Given the description of an element on the screen output the (x, y) to click on. 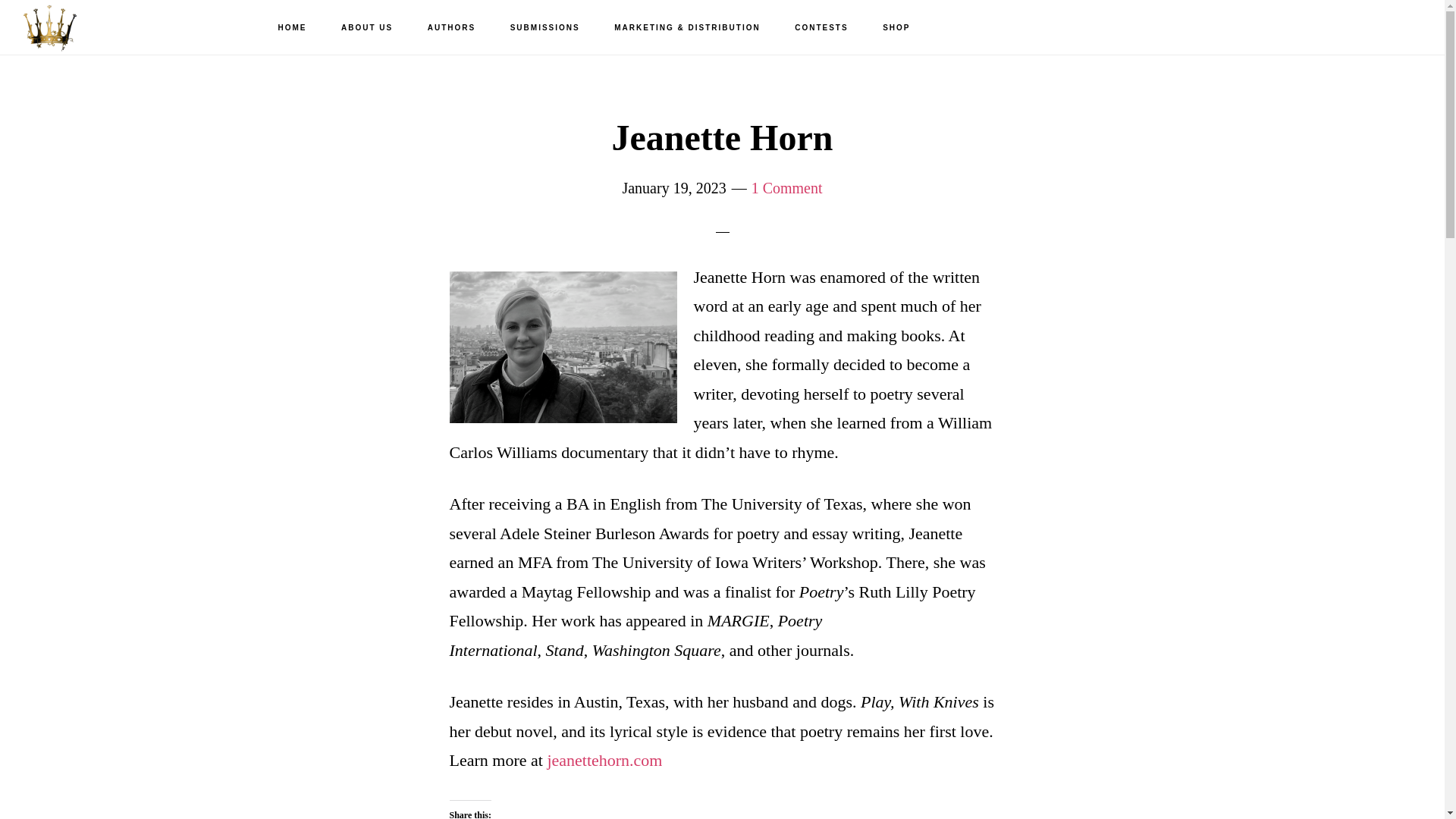
CONTESTS (820, 27)
HOME (292, 27)
ABOUT US (366, 27)
SUBMISSIONS (545, 27)
REGAL HOUSE PUBLISHING (98, 26)
AUTHORS (451, 27)
